Given the description of an element on the screen output the (x, y) to click on. 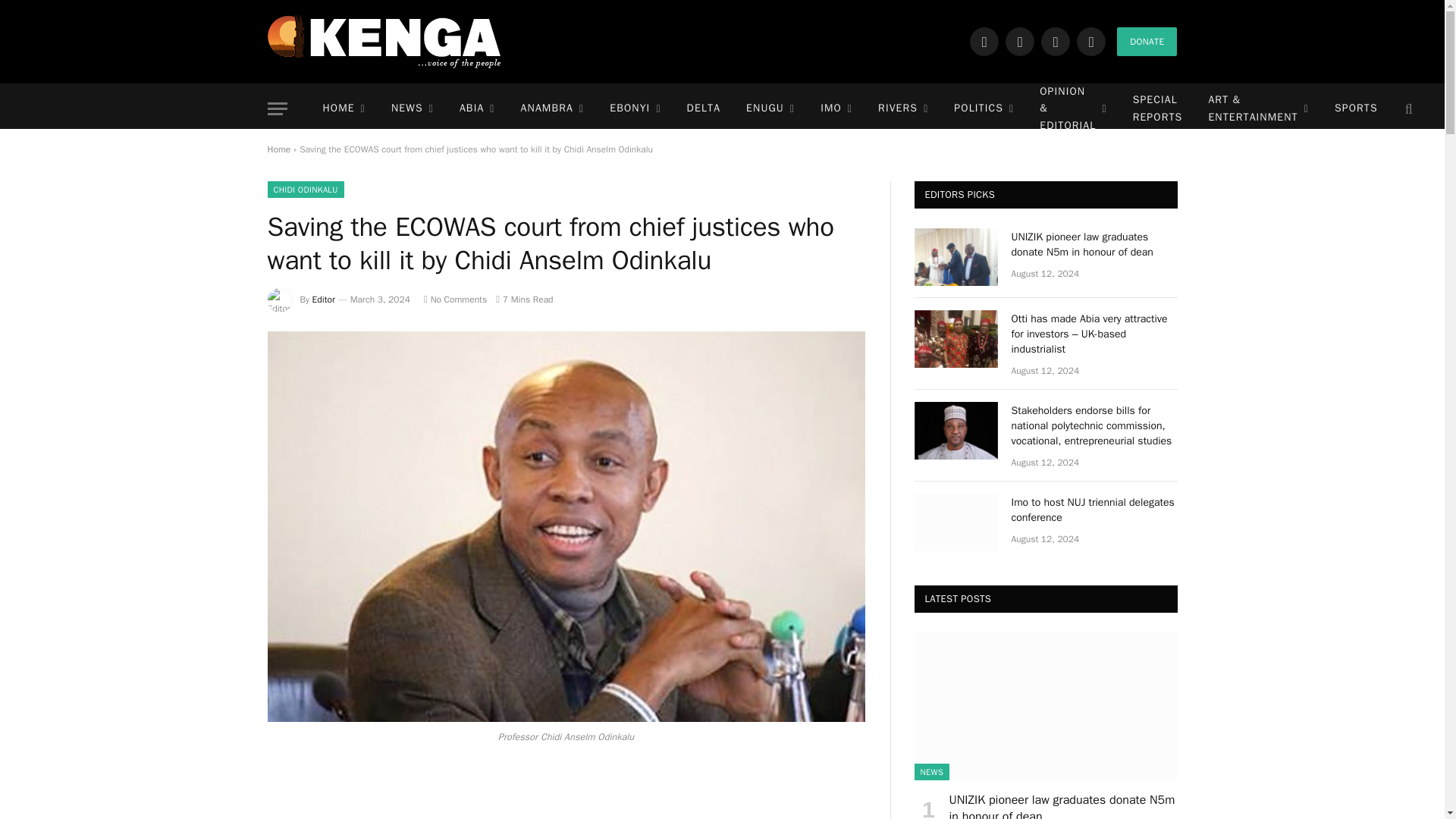
Instagram (1055, 41)
HOME (342, 108)
Ikenga Online (383, 41)
NEWS (412, 108)
YouTube (1091, 41)
Twitter (1019, 41)
DONATE (1146, 41)
Facebook (983, 41)
